Given the description of an element on the screen output the (x, y) to click on. 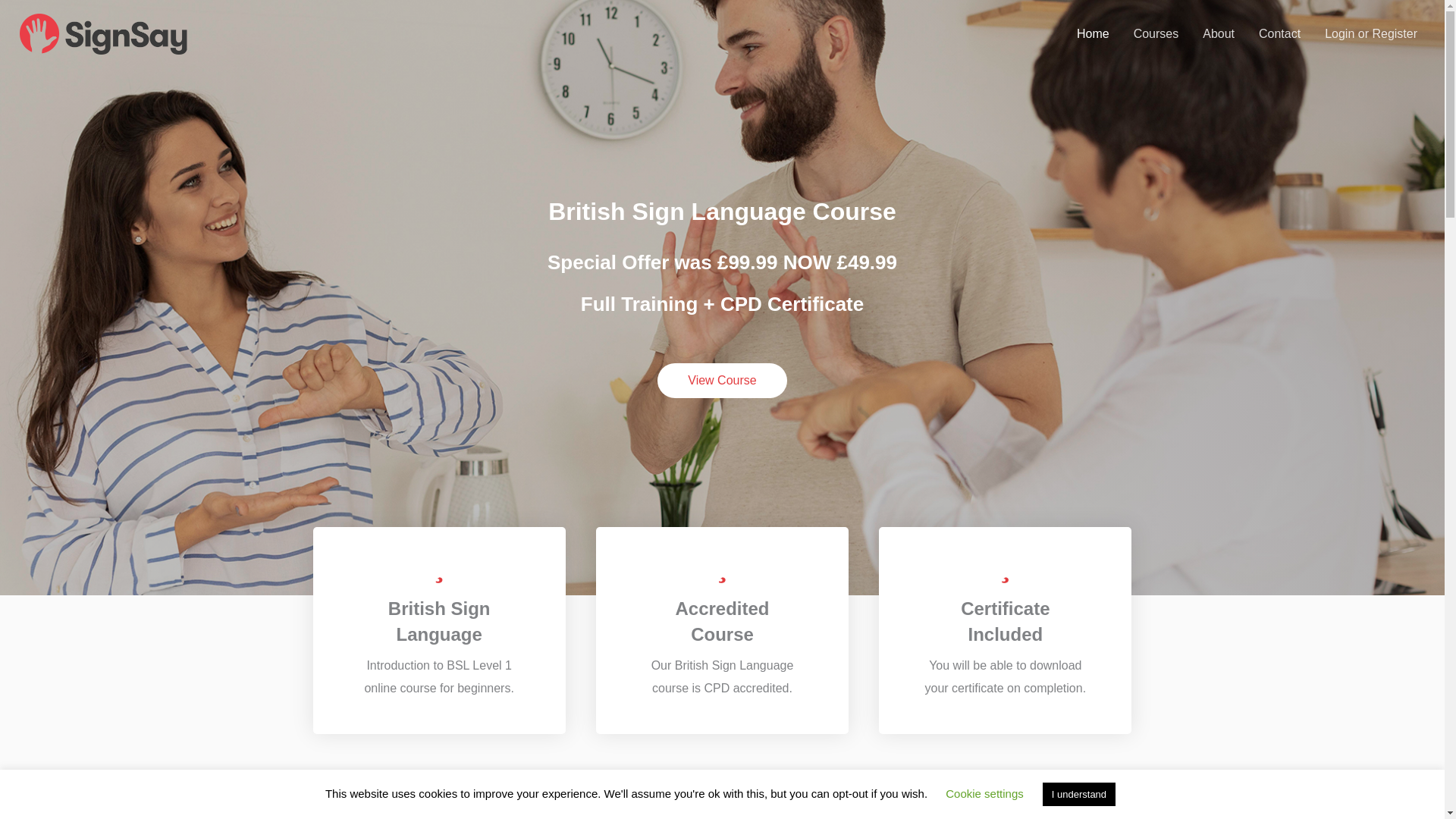
Courses (1156, 33)
Home (1092, 33)
Login or Register (1371, 33)
View Course (722, 380)
Contact (1279, 33)
About (1218, 33)
